Given the description of an element on the screen output the (x, y) to click on. 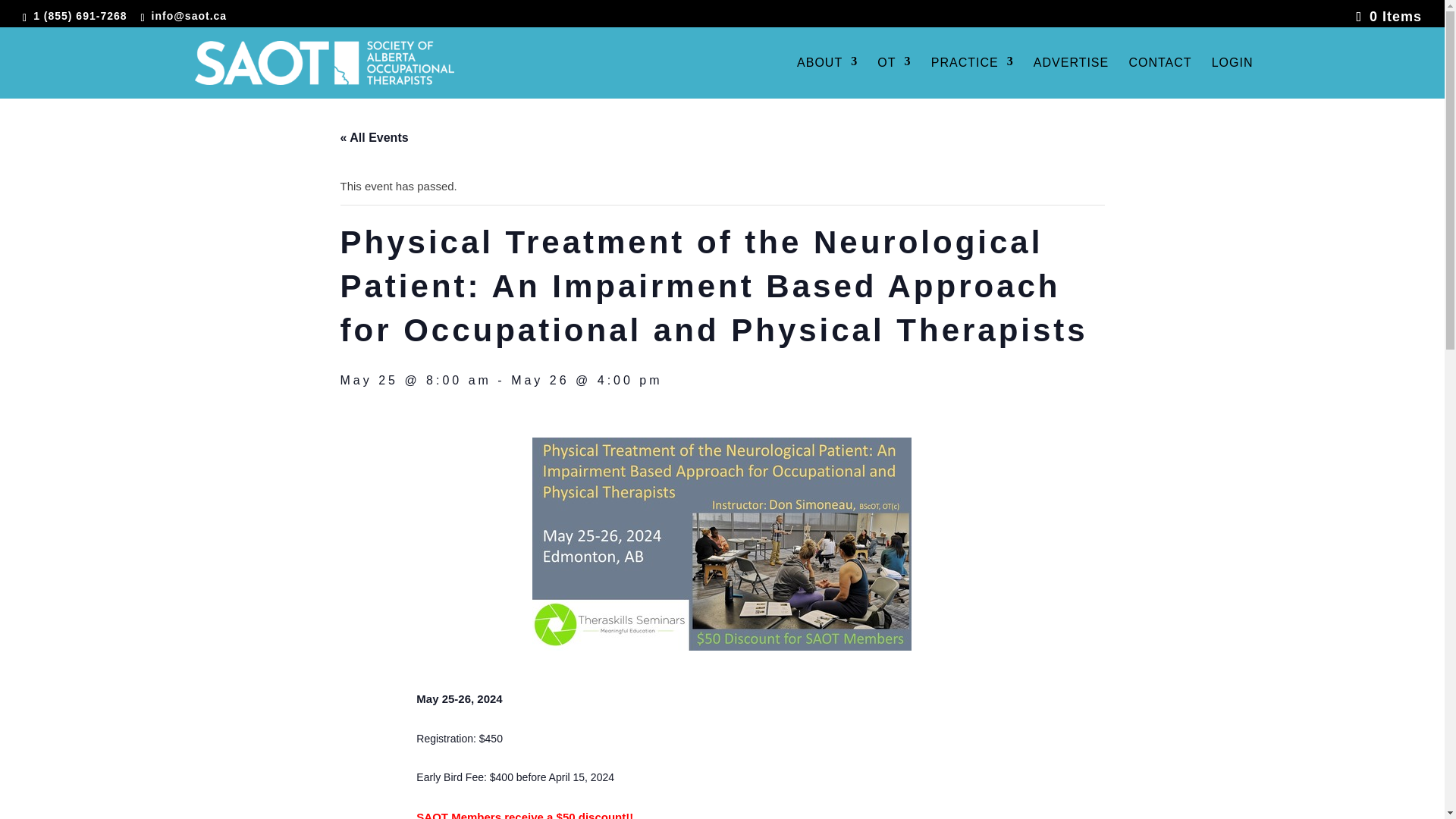
0 Items (1386, 16)
May 2024 Ad (721, 543)
ADVERTISE (1070, 77)
CONTACT (1159, 77)
ABOUT (826, 77)
PRACTICE (972, 77)
LOGIN (1232, 77)
